Given the description of an element on the screen output the (x, y) to click on. 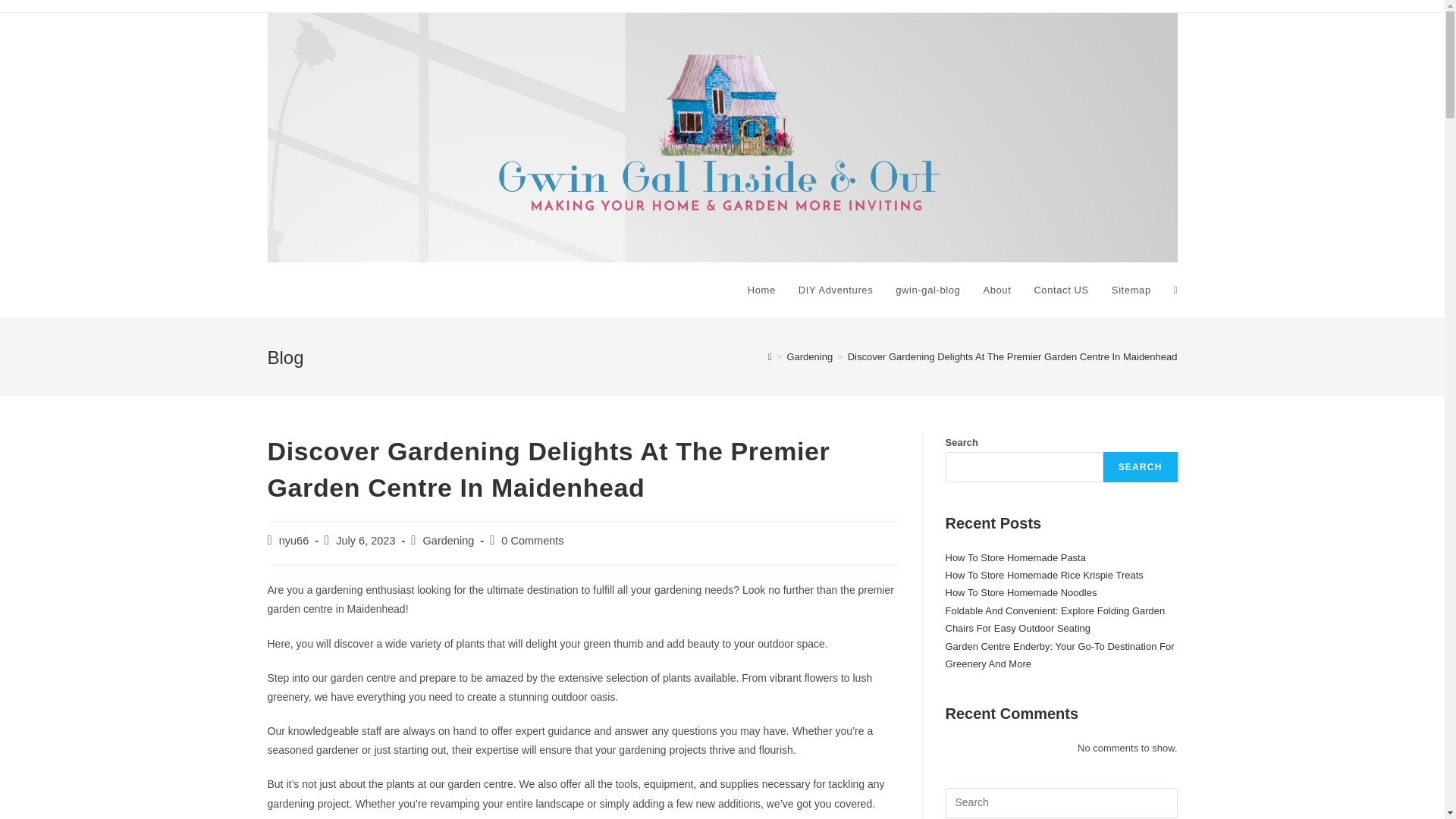
About (996, 290)
How To Store Homemade Rice Krispie Treats (1043, 574)
gwin-gal-blog (927, 290)
DIY Adventures (836, 290)
Sitemap (1130, 290)
How To Store Homemade Noodles (1020, 592)
Gardening (809, 356)
Contact US (1060, 290)
0 Comments (531, 540)
How To Store Homemade Pasta (1014, 557)
nyu66 (293, 540)
Home (761, 290)
